Given the description of an element on the screen output the (x, y) to click on. 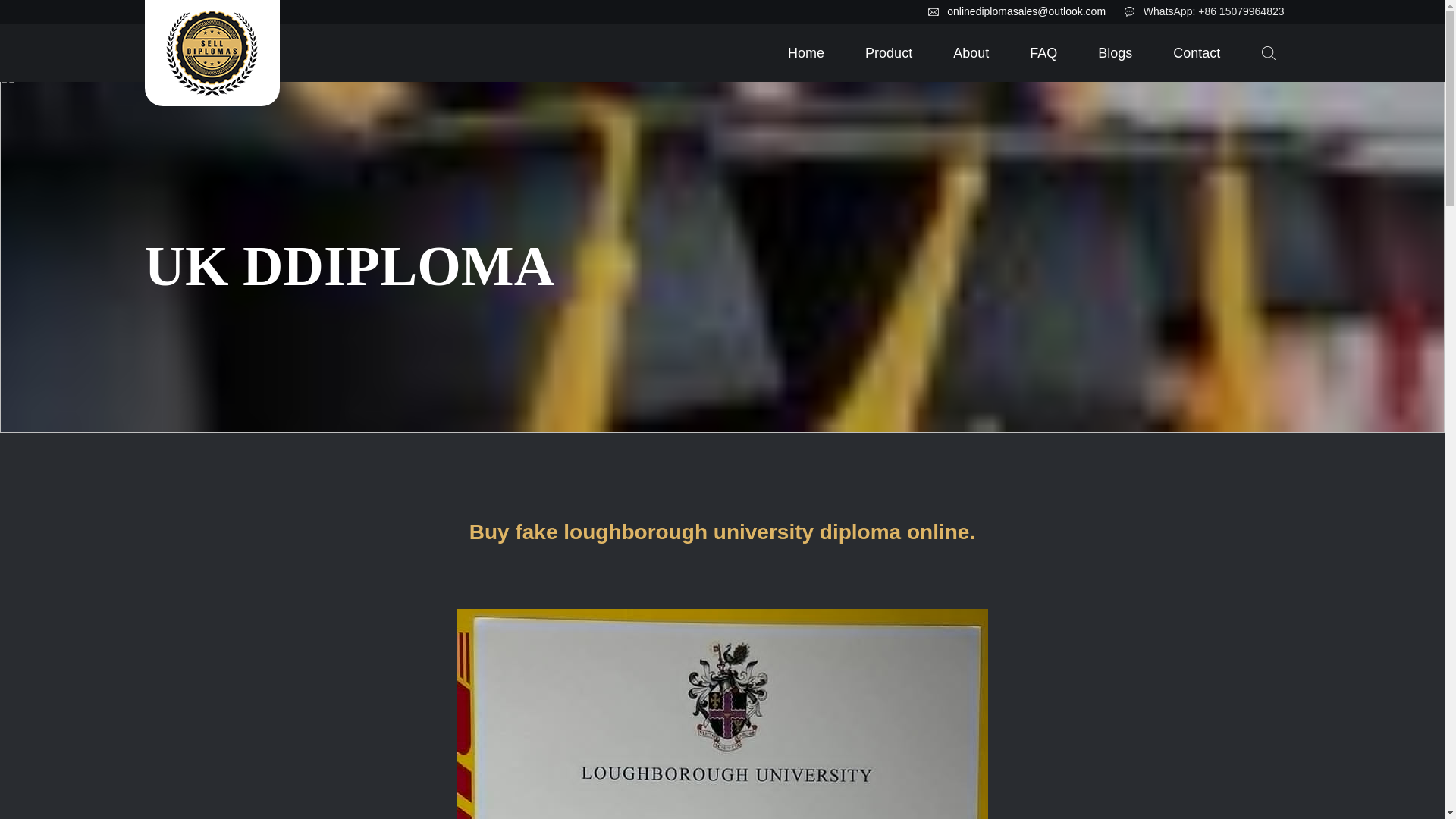
Product (888, 52)
Blogs (1114, 52)
Home (806, 52)
About (971, 52)
FAQ (1043, 52)
Contact (1195, 52)
